Given the description of an element on the screen output the (x, y) to click on. 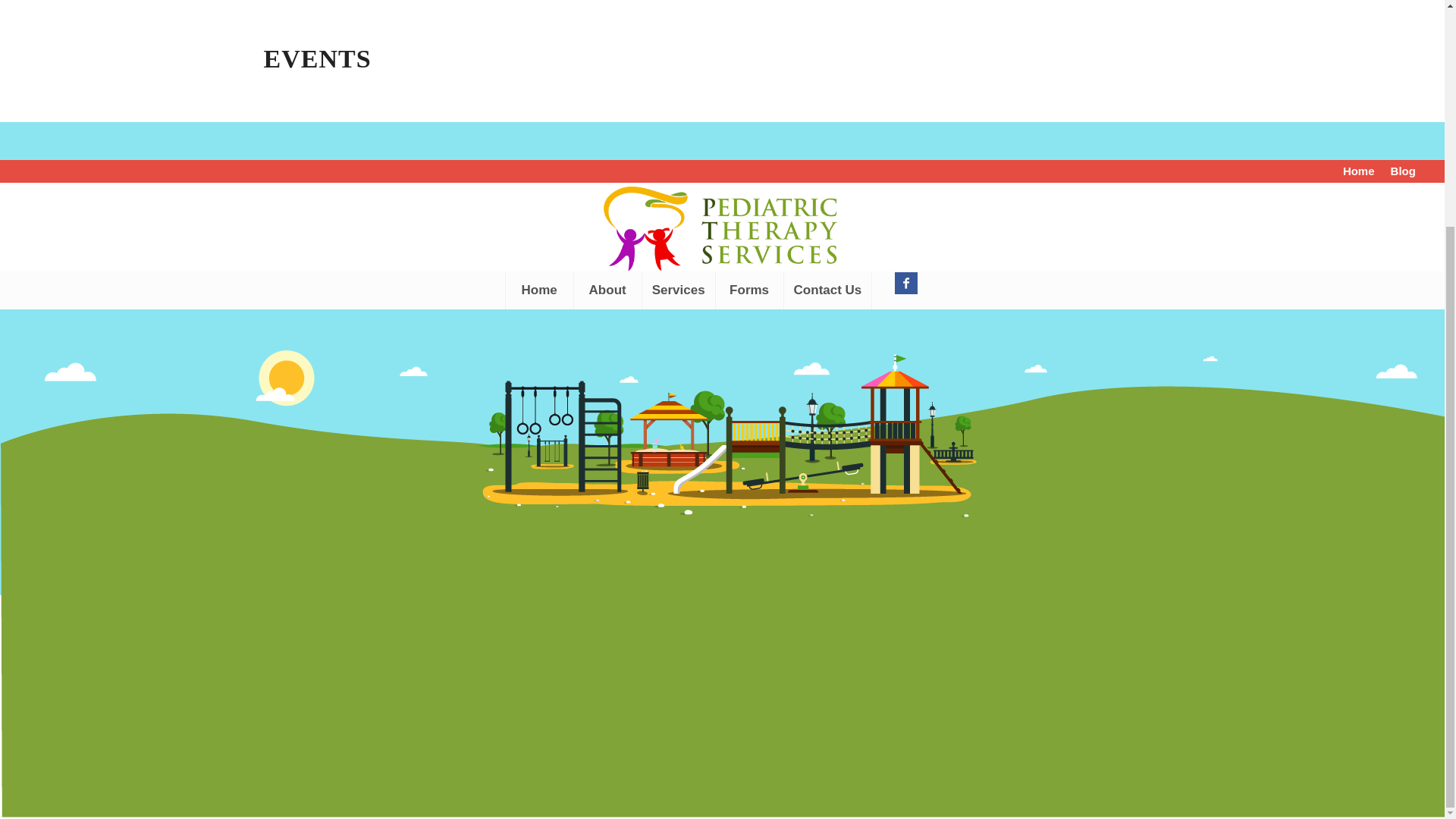
About (607, 2)
Contact Us (827, 2)
Forms (748, 2)
Home (539, 2)
Services (678, 2)
